Given the description of an element on the screen output the (x, y) to click on. 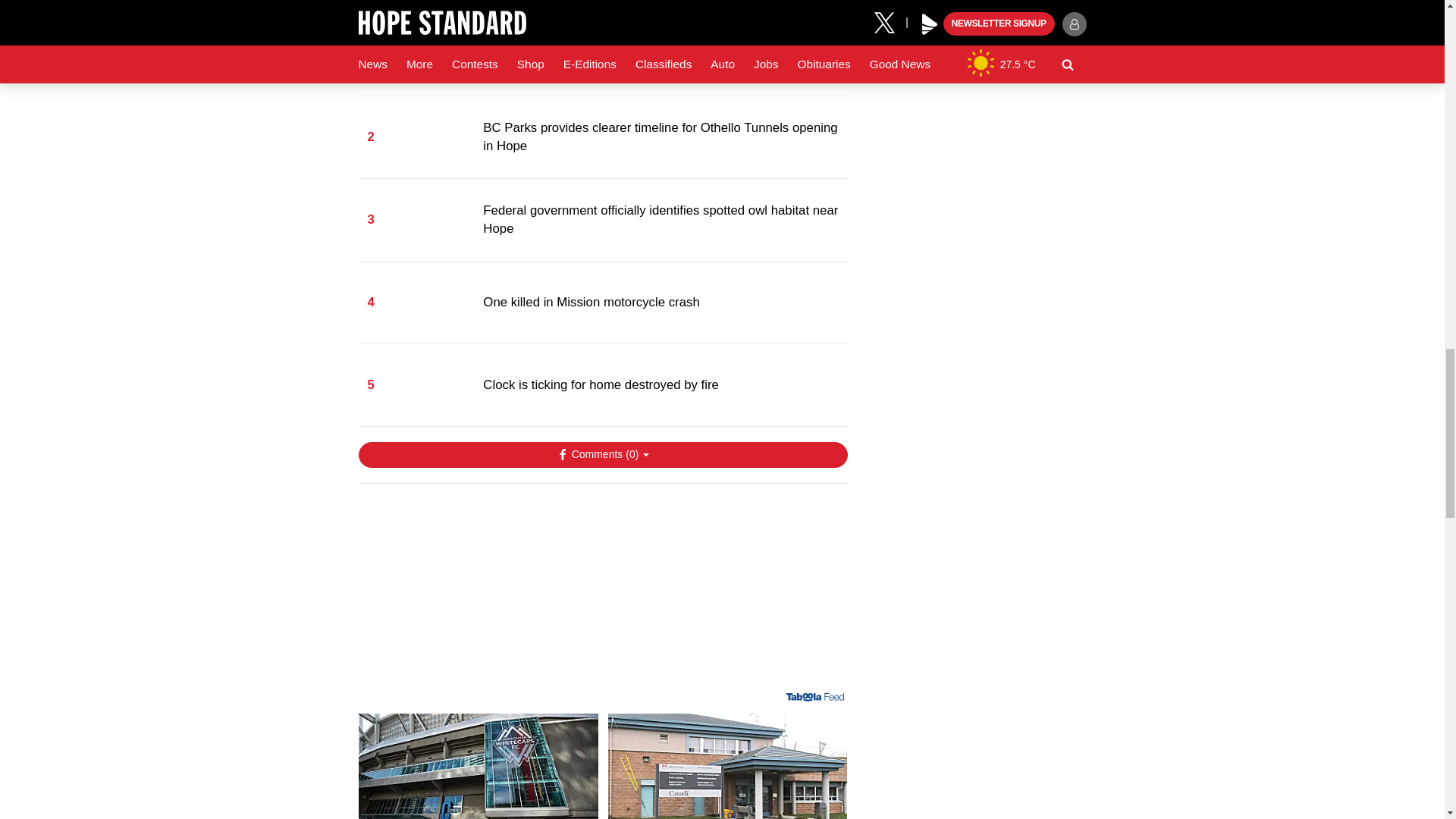
Show Comments (602, 454)
3rd party ad content (602, 593)
